Given the description of an element on the screen output the (x, y) to click on. 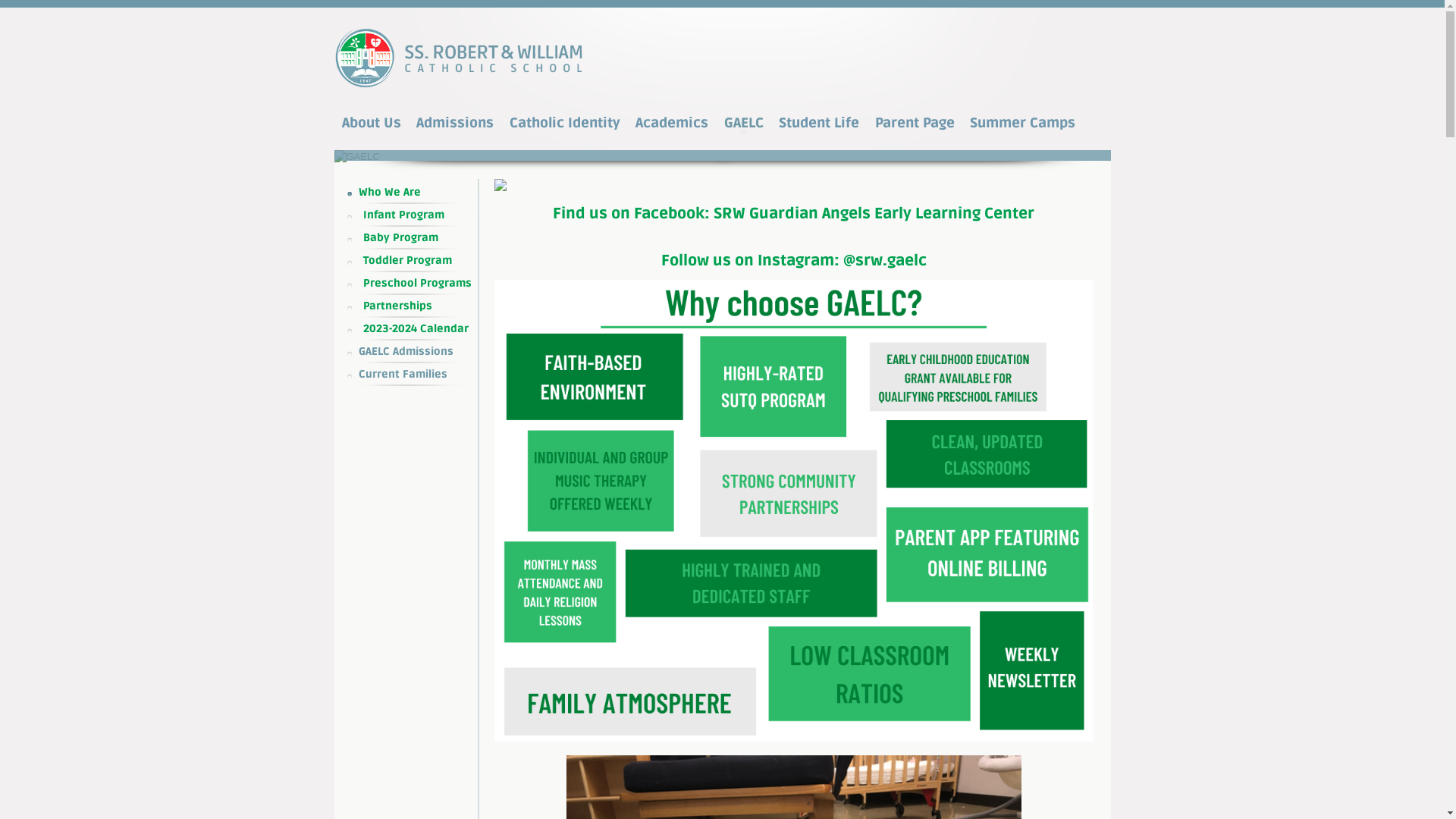
Catholic Identity Element type: text (564, 122)
Current Families Element type: text (415, 374)
Parent Page Element type: text (914, 122)
Student Life Element type: text (818, 122)
Who We Are Element type: text (415, 192)
Admissions Element type: text (454, 122)
Toddler Program Element type: text (415, 260)
Preschool Programs Element type: text (415, 283)
GAELC Admissions Element type: text (415, 351)
GAELC Element type: text (743, 122)
Academics Element type: text (671, 122)
Infant Program Element type: text (415, 214)
Summer Camps Element type: text (1022, 122)
About Us Element type: text (371, 122)
2023-2024 Calendar Element type: text (415, 328)
Partnerships Element type: text (415, 305)
Baby Program Element type: text (415, 237)
